Given the description of an element on the screen output the (x, y) to click on. 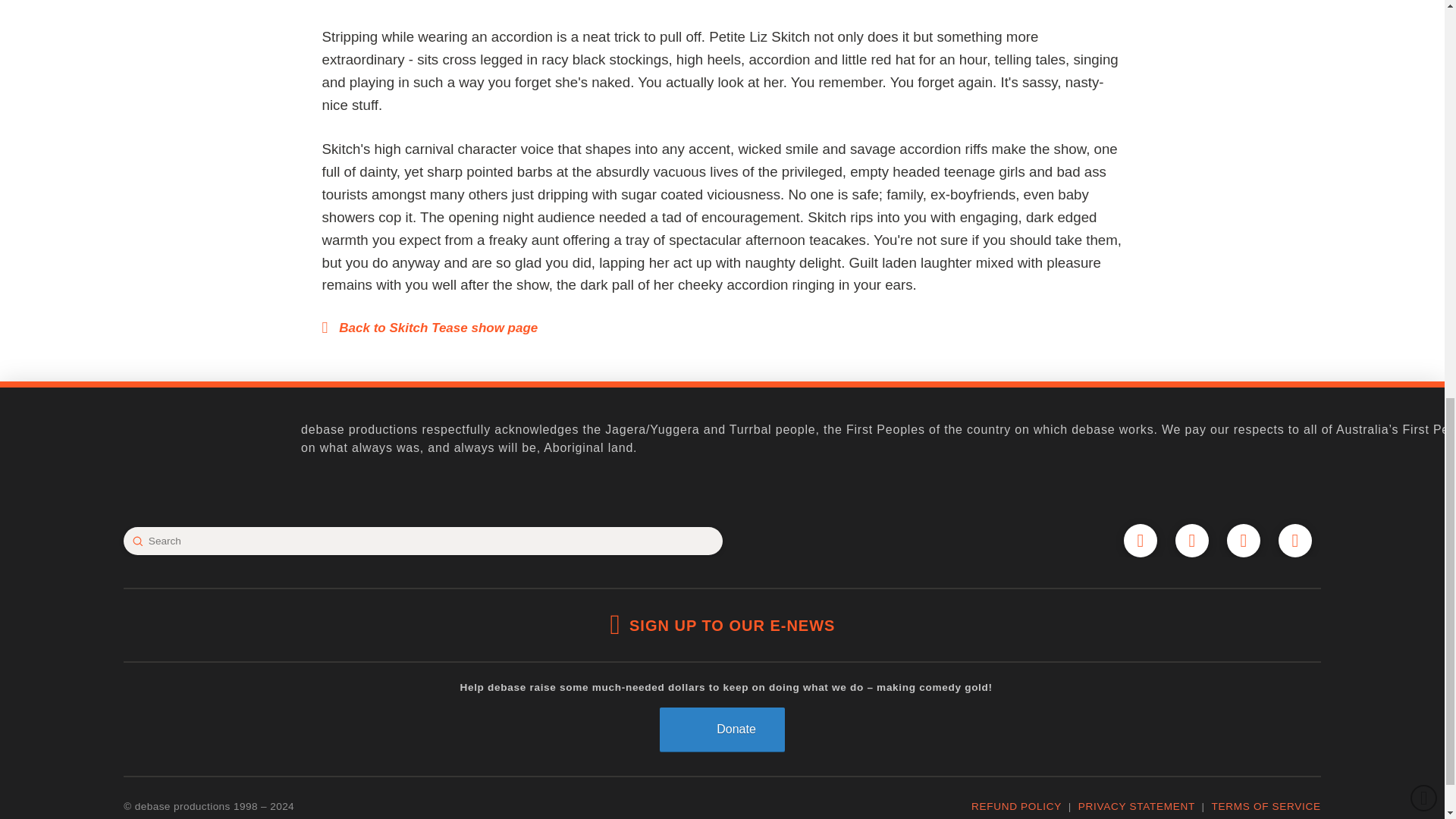
Back to Skitch Tease show page (429, 327)
